Given the description of an element on the screen output the (x, y) to click on. 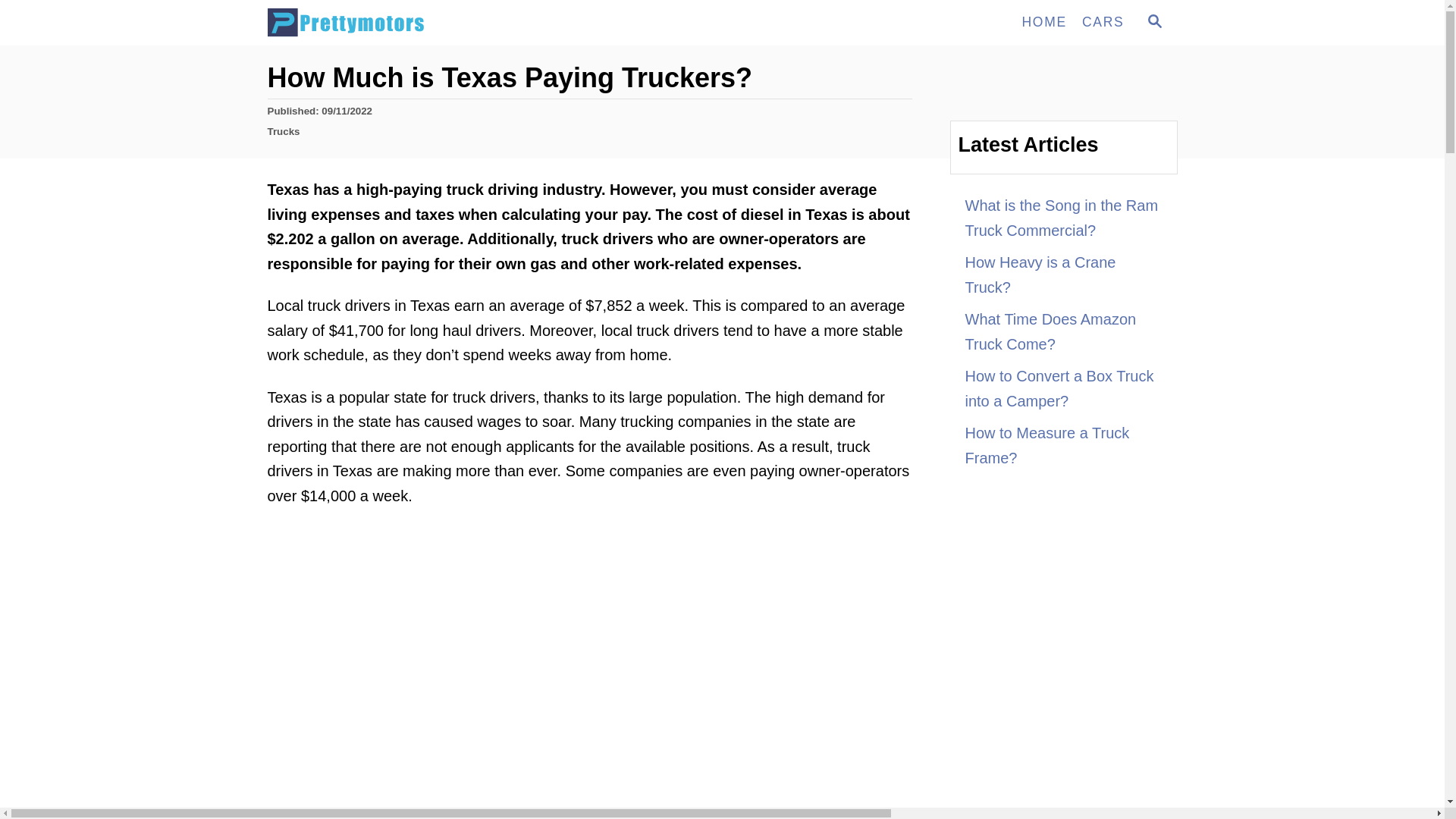
How Heavy is a Crane Truck? (1062, 274)
HOME (1043, 22)
What Time Does Amazon Truck Come? (1062, 331)
Trucks (282, 131)
MAGNIFYING GLASS (1153, 22)
How to Measure a Truck Frame? (1153, 21)
CARS (1062, 445)
How to Convert a Box Truck into a Camper? (1103, 22)
What is the Song in the Ram Truck Commercial? (1062, 388)
Prettymotors (1062, 217)
